Given the description of an element on the screen output the (x, y) to click on. 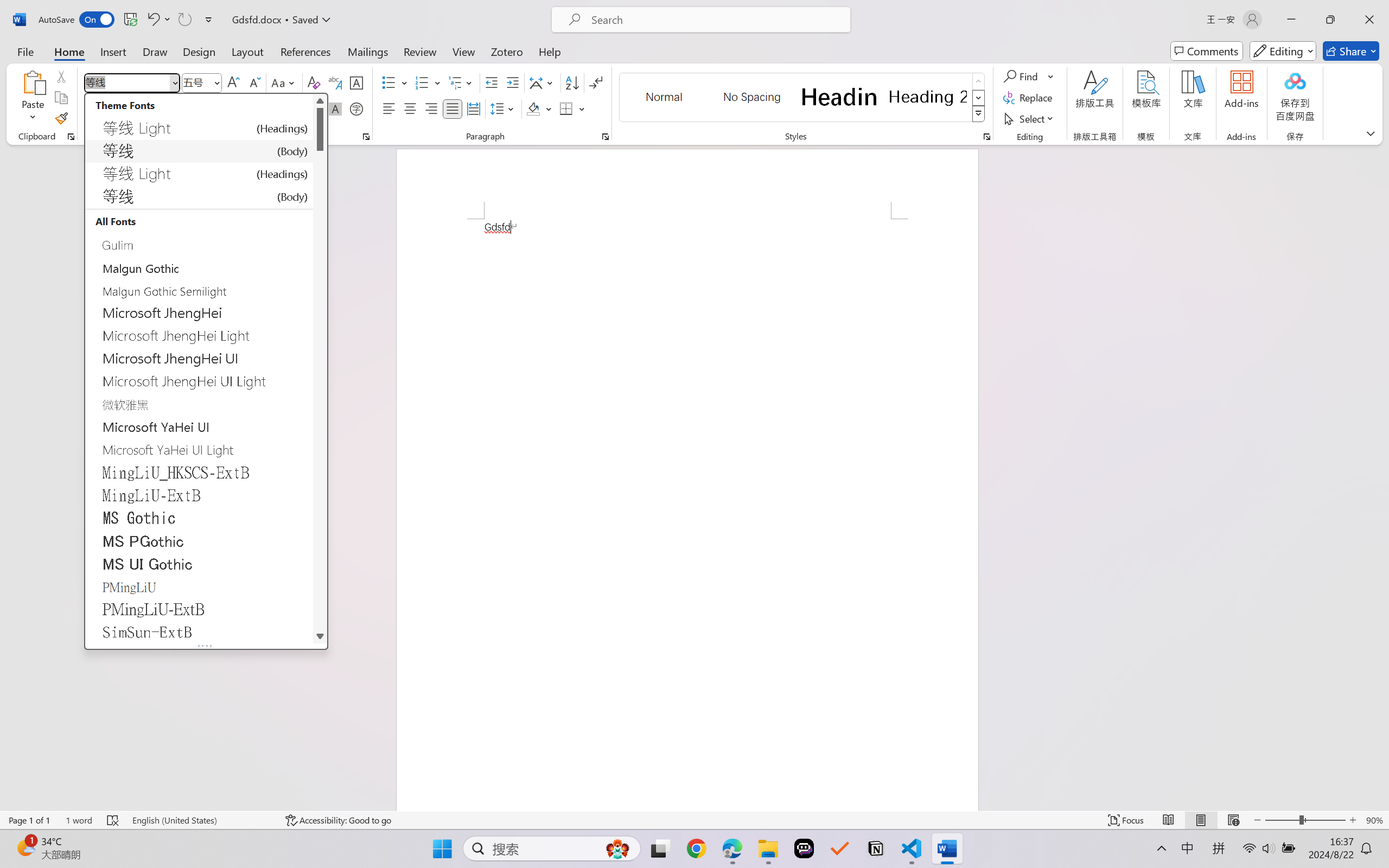
Class: MsoCommandBar (694, 819)
Shading (539, 108)
Clear Formatting (313, 82)
Spelling and Grammar Check Errors (113, 819)
MS Gothic (198, 517)
Undo Style (152, 19)
Justify (452, 108)
Undo Style (158, 19)
Select (1030, 118)
